Given the description of an element on the screen output the (x, y) to click on. 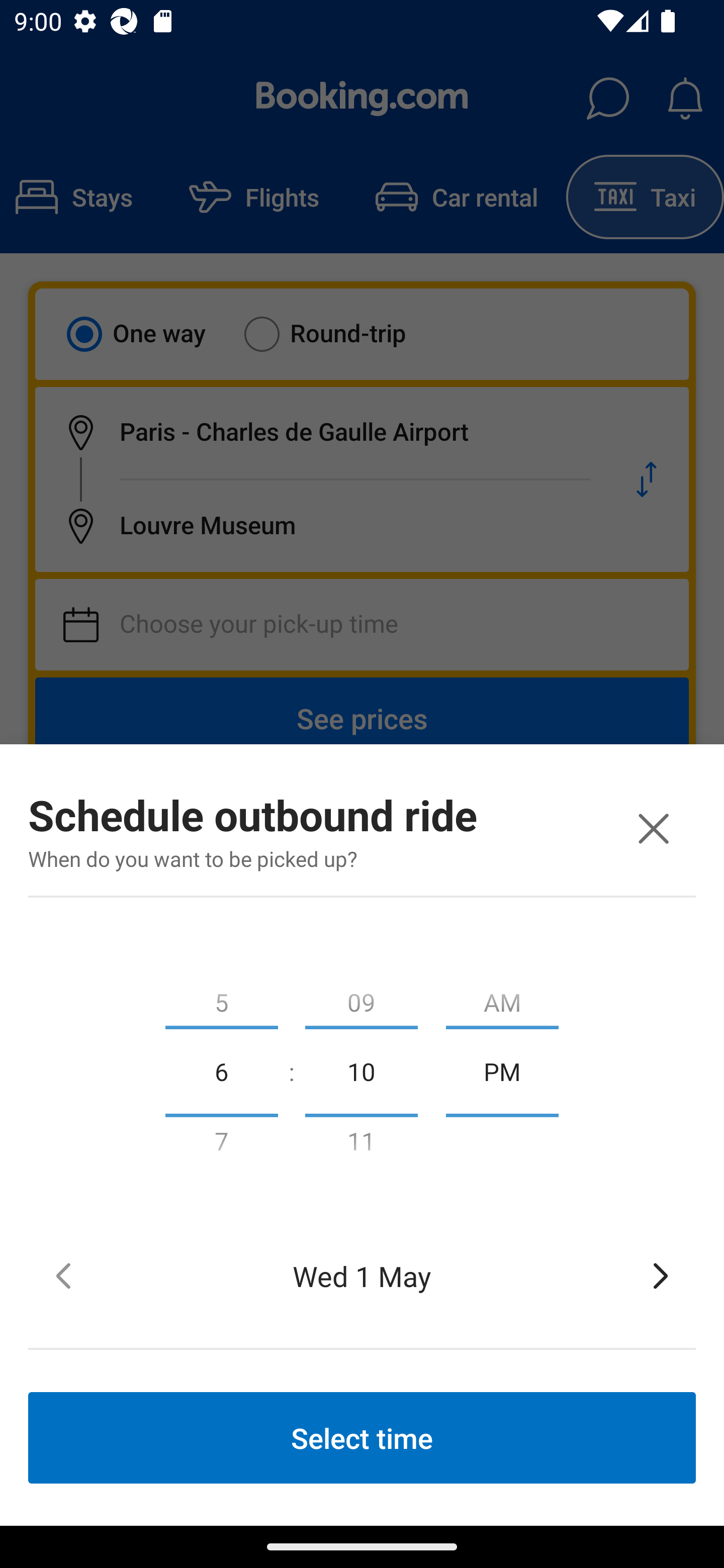
Close window (653, 828)
5 (221, 997)
09 (361, 997)
AM (501, 997)
6 (221, 1070)
10 (361, 1070)
PM (501, 1070)
7 (221, 1144)
11 (361, 1144)
Tap to move back to the previous date (63, 1275)
Tap to move forward to the next date (660, 1275)
Wed 1 May Selected date, Wednesday, 1 May (361, 1275)
Select time (361, 1437)
